Given the description of an element on the screen output the (x, y) to click on. 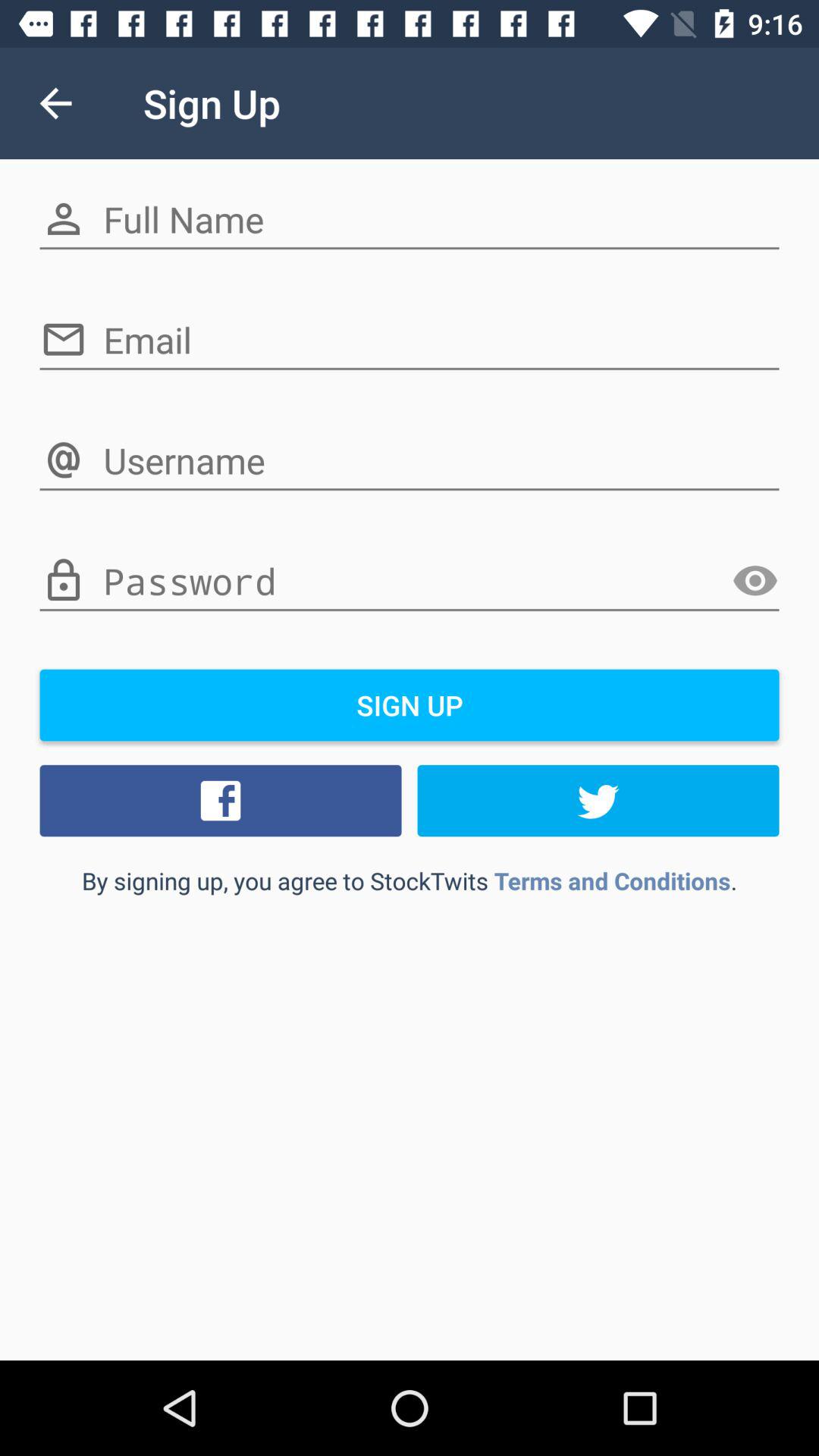
tap item to the left of sign up (55, 103)
